Given the description of an element on the screen output the (x, y) to click on. 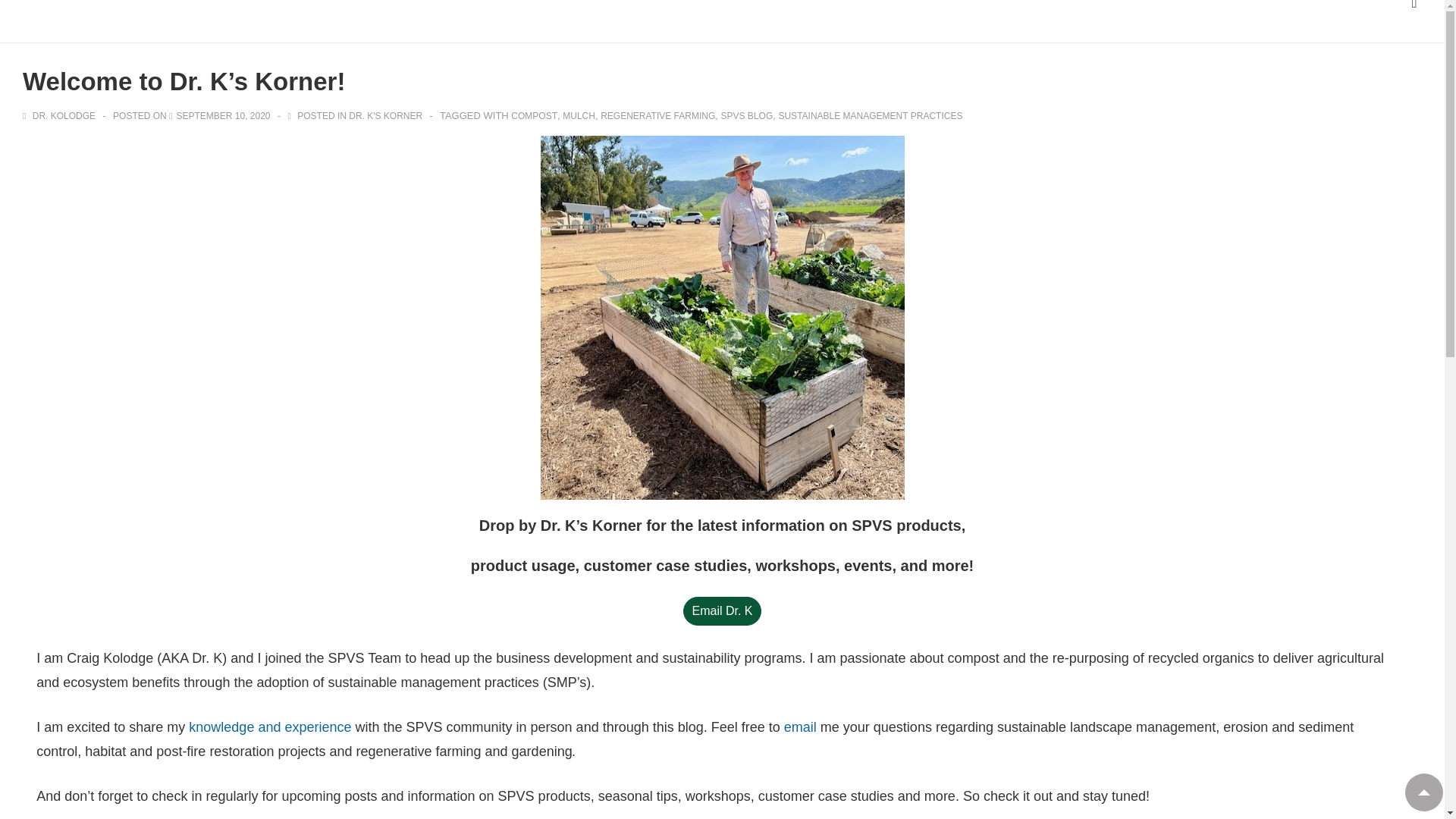
Top (1423, 792)
Scroll to Top (1423, 792)
View all posts by Dr. Kolodge (60, 115)
